Given the description of an element on the screen output the (x, y) to click on. 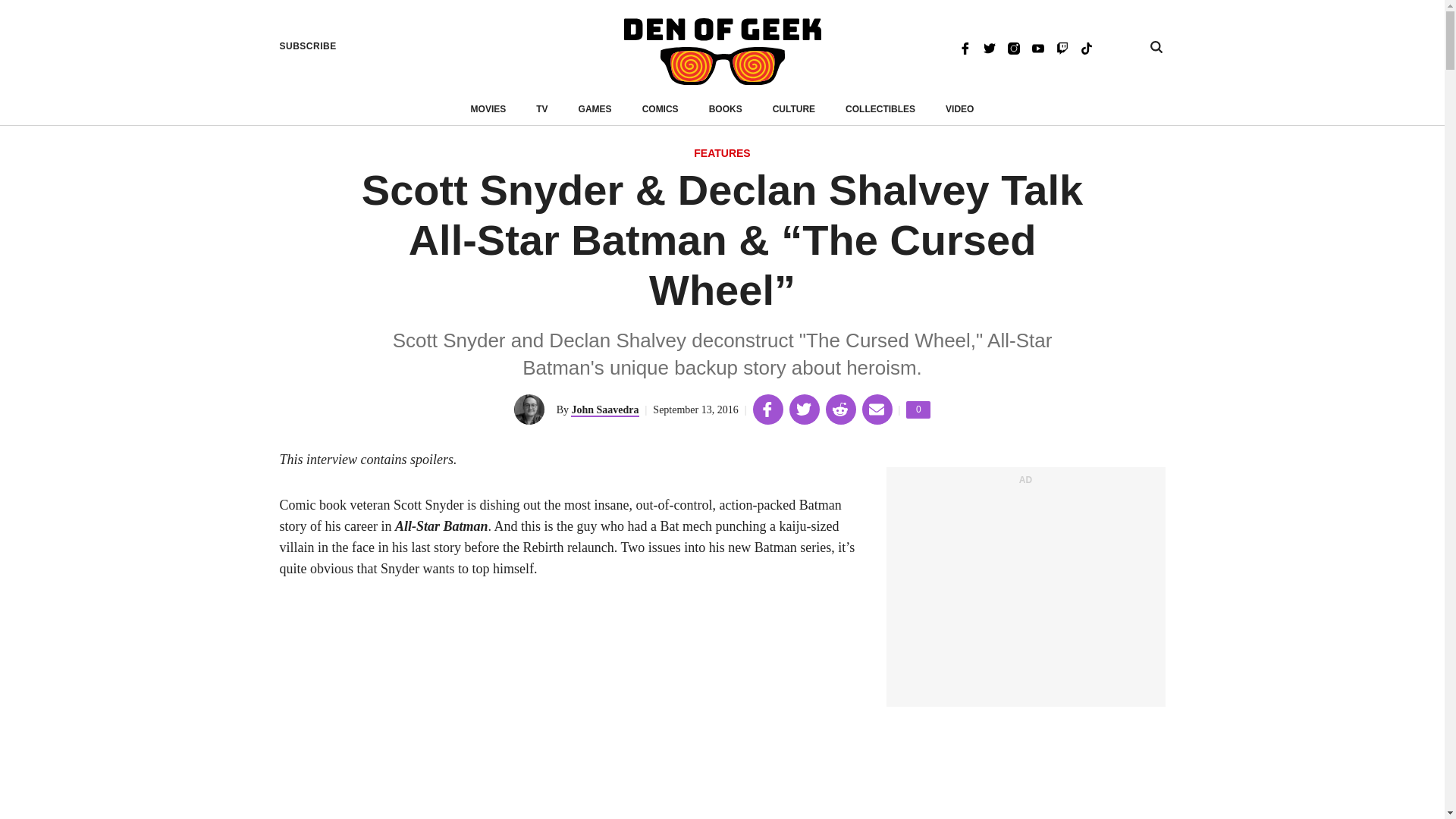
Den of Geek (722, 52)
MOVIES (488, 109)
BOOKS (725, 109)
CULTURE (794, 109)
COMICS (660, 109)
FEATURES (721, 153)
Twitch (1061, 46)
VIDEO (959, 109)
TikTok (1085, 46)
John Saavedra (604, 410)
COLLECTIBLES (880, 109)
GAMES (594, 109)
Instagram (1013, 46)
SUBSCRIBE (307, 46)
